Given the description of an element on the screen output the (x, y) to click on. 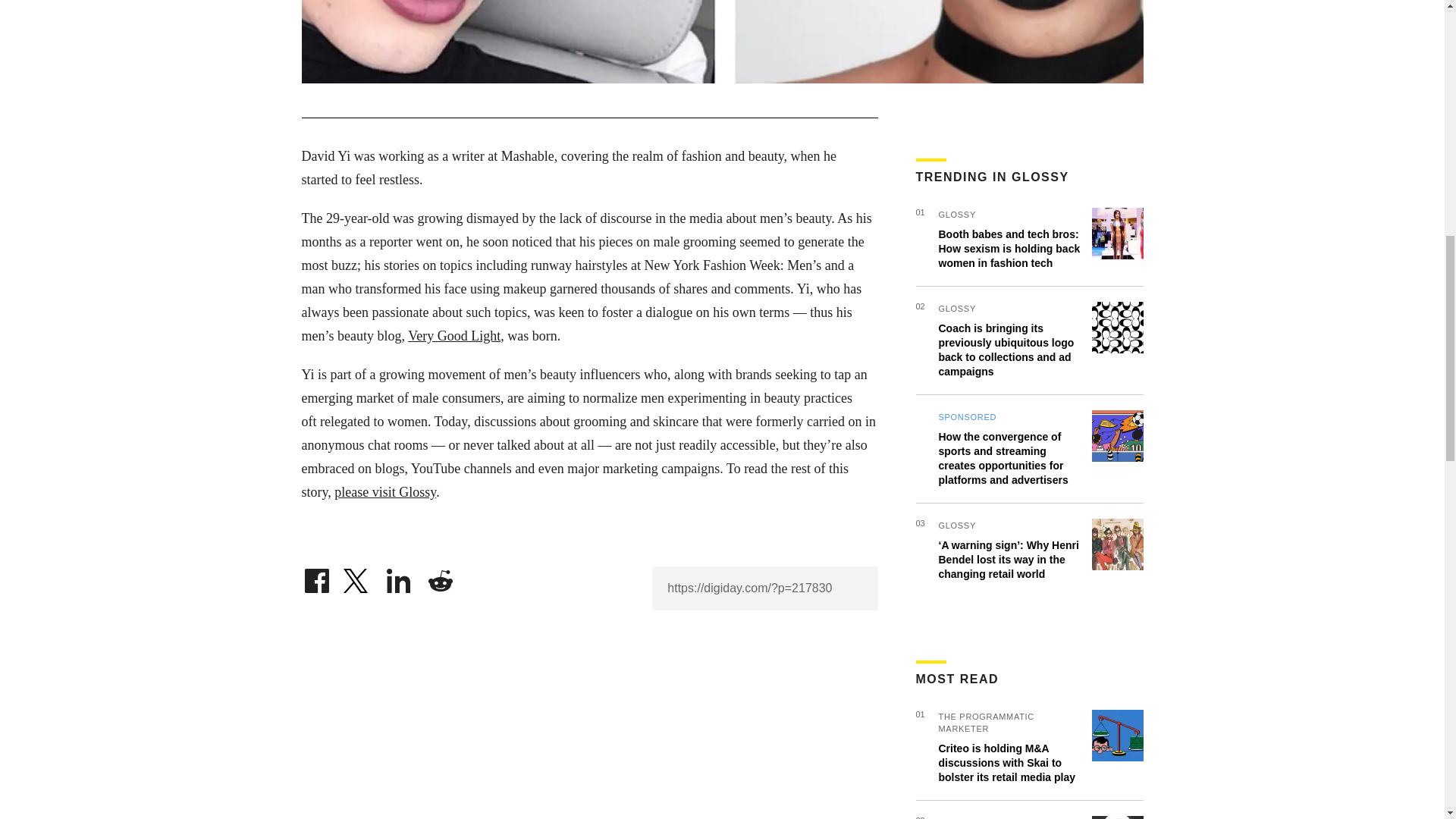
Share on Twitter (357, 576)
Share on Facebook (316, 576)
Share on LinkedIn (398, 576)
Share on Reddit (440, 576)
